Given the description of an element on the screen output the (x, y) to click on. 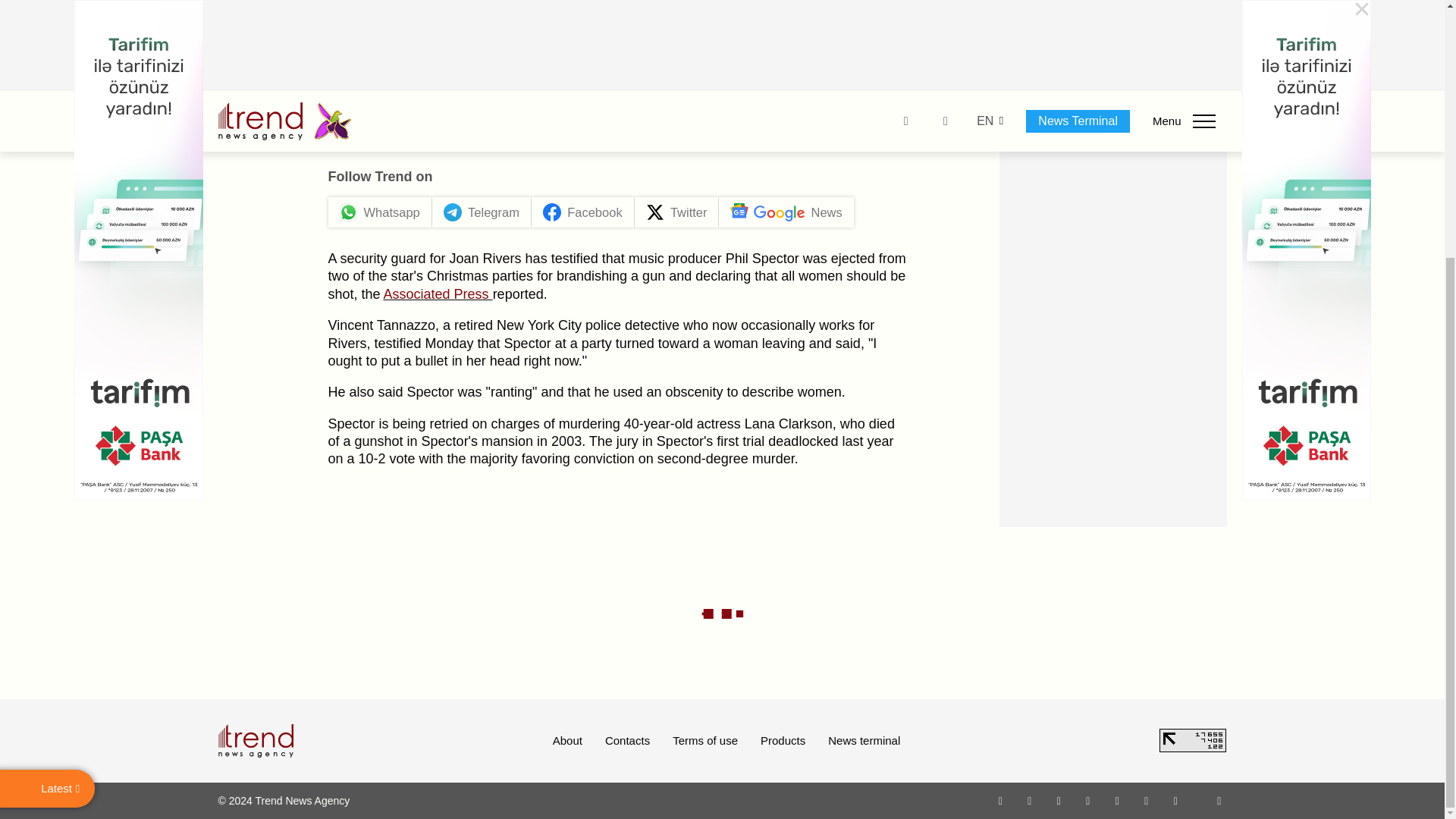
Twitter (1059, 800)
Android App (1176, 800)
LinkedIn (1146, 800)
Telegram (1117, 800)
RSS Feed (1219, 800)
Whatsapp (1000, 800)
Facebook (1029, 800)
Youtube (1088, 800)
